Given the description of an element on the screen output the (x, y) to click on. 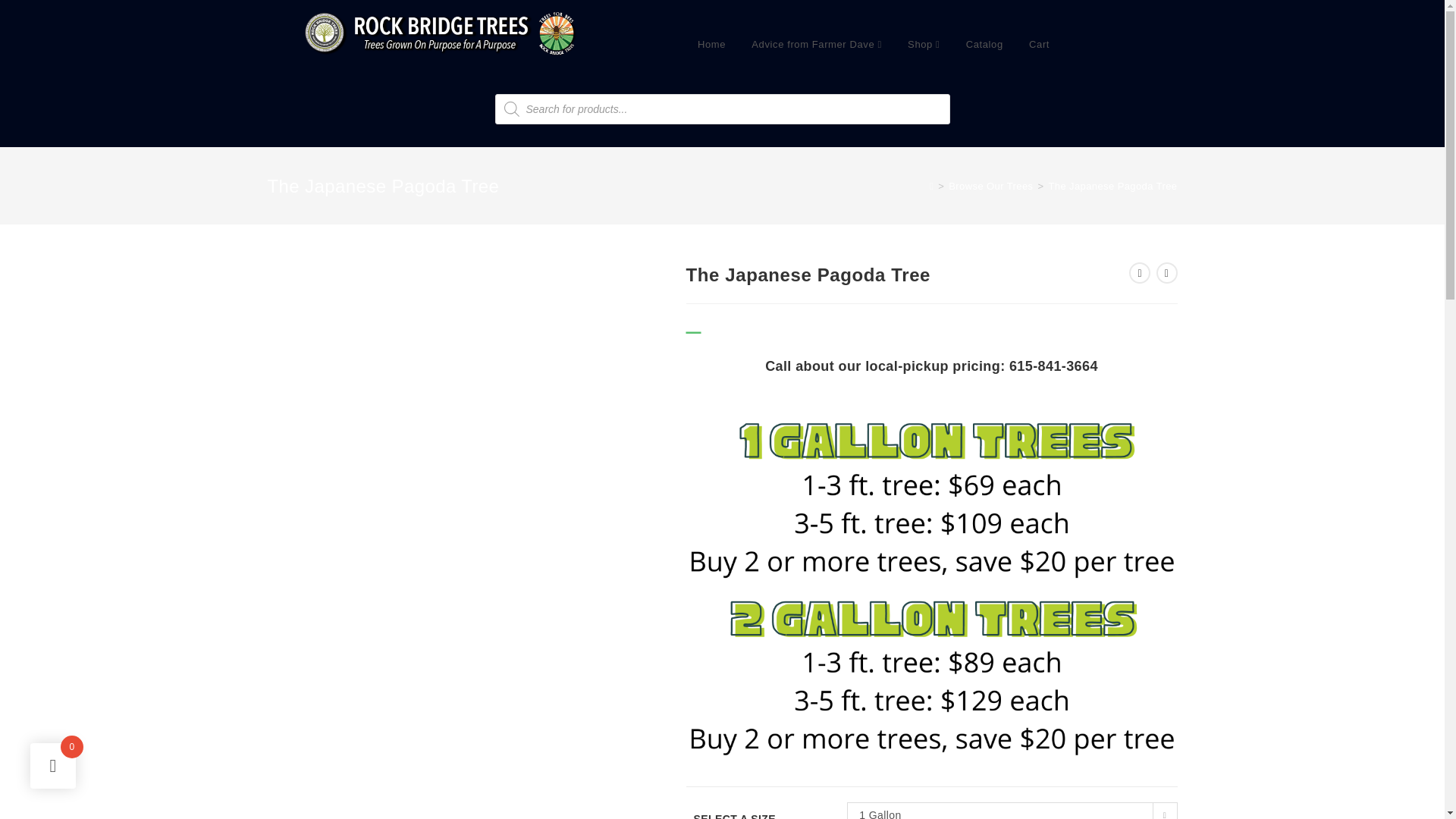
Advice from Farmer Dave (815, 44)
Cart (1039, 44)
Catalog (984, 44)
Shop (923, 44)
Home (710, 44)
